Given the description of an element on the screen output the (x, y) to click on. 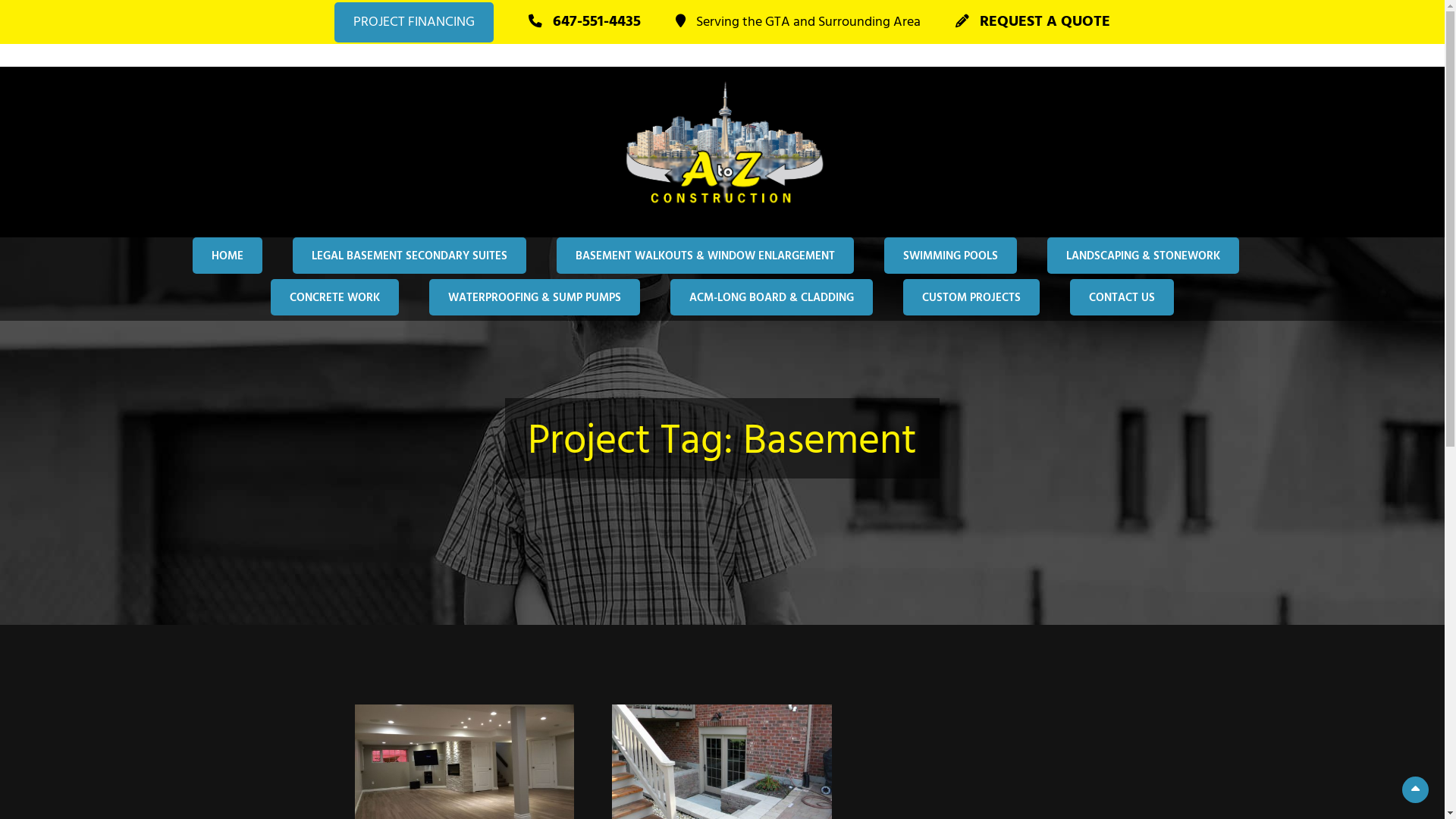
SWIMMING POOLS Element type: text (950, 254)
Scroll Up Element type: text (1415, 789)
A To Z Construction Element type: text (240, 246)
CONTACT US Element type: text (1121, 297)
CUSTOM PROJECTS Element type: text (971, 297)
BASEMENT WALKOUTS & WINDOW ENLARGEMENT Element type: text (704, 254)
PROJECT FINANCING Element type: text (413, 22)
WATERPROOFING & SUMP PUMPS Element type: text (534, 297)
HOME Element type: text (227, 254)
REQUEST A QUOTE Element type: text (1032, 22)
CONCRETE WORK Element type: text (334, 297)
LANDSCAPING & STONEWORK Element type: text (1142, 254)
647-551-4435 Element type: text (584, 22)
LEGAL BASEMENT SECONDARY SUITES Element type: text (409, 254)
ACM-LONG BOARD & CLADDING Element type: text (771, 297)
